Given the description of an element on the screen output the (x, y) to click on. 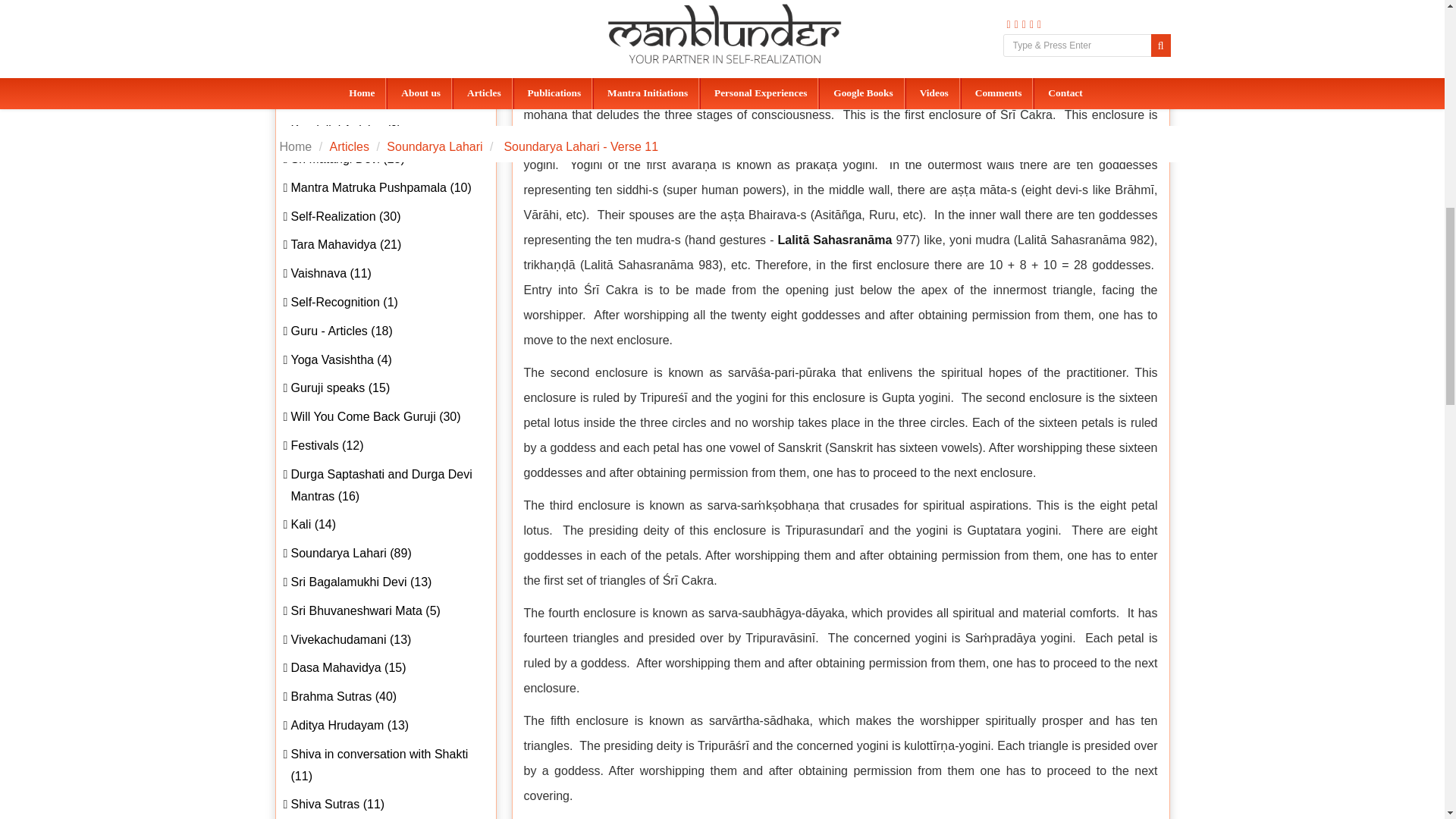
Lalita Sahasranama (834, 239)
